Given the description of an element on the screen output the (x, y) to click on. 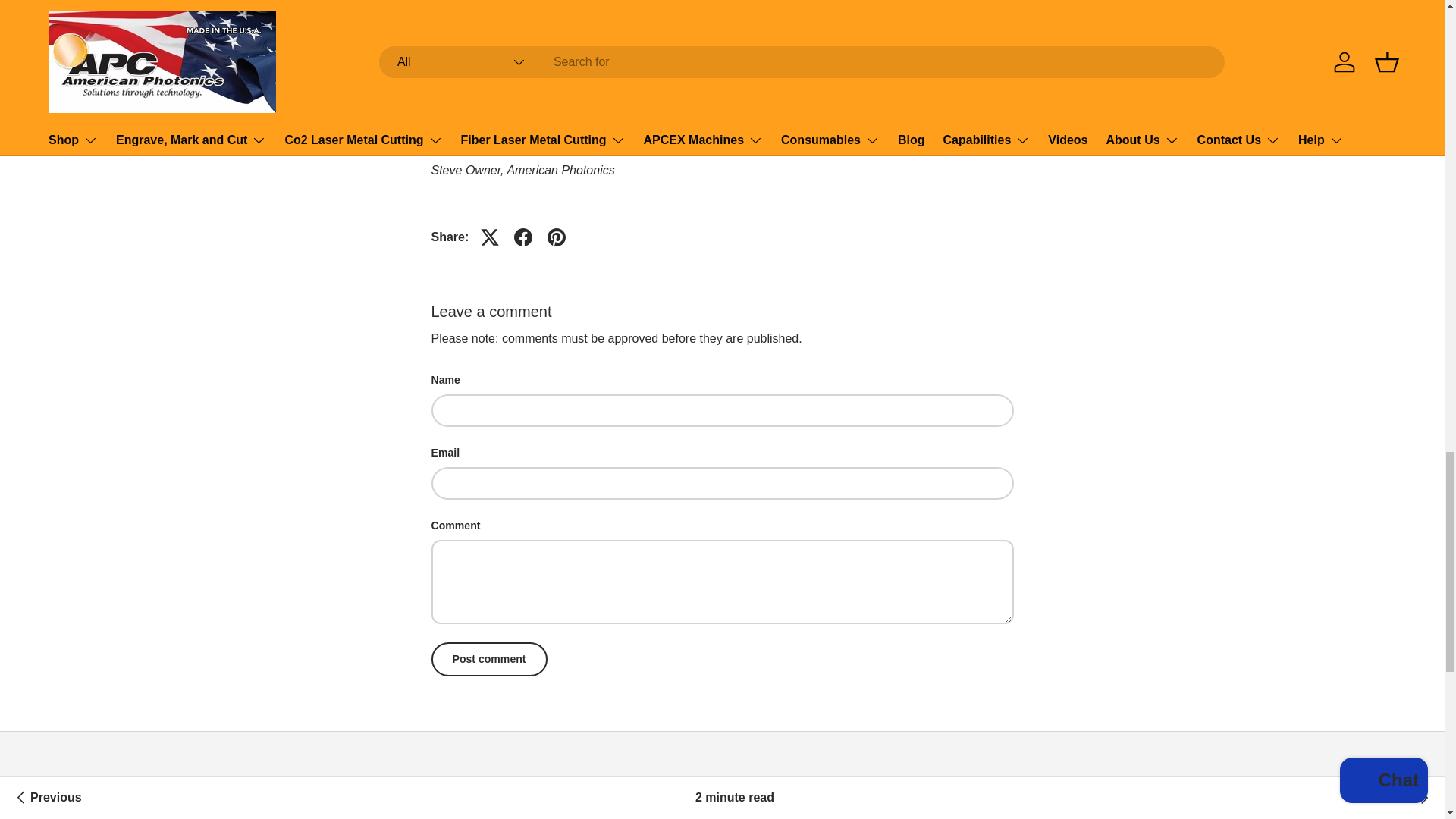
Share on Facebook (523, 236)
Tweet on X (489, 236)
Pin on Pinterest (556, 236)
